Given the description of an element on the screen output the (x, y) to click on. 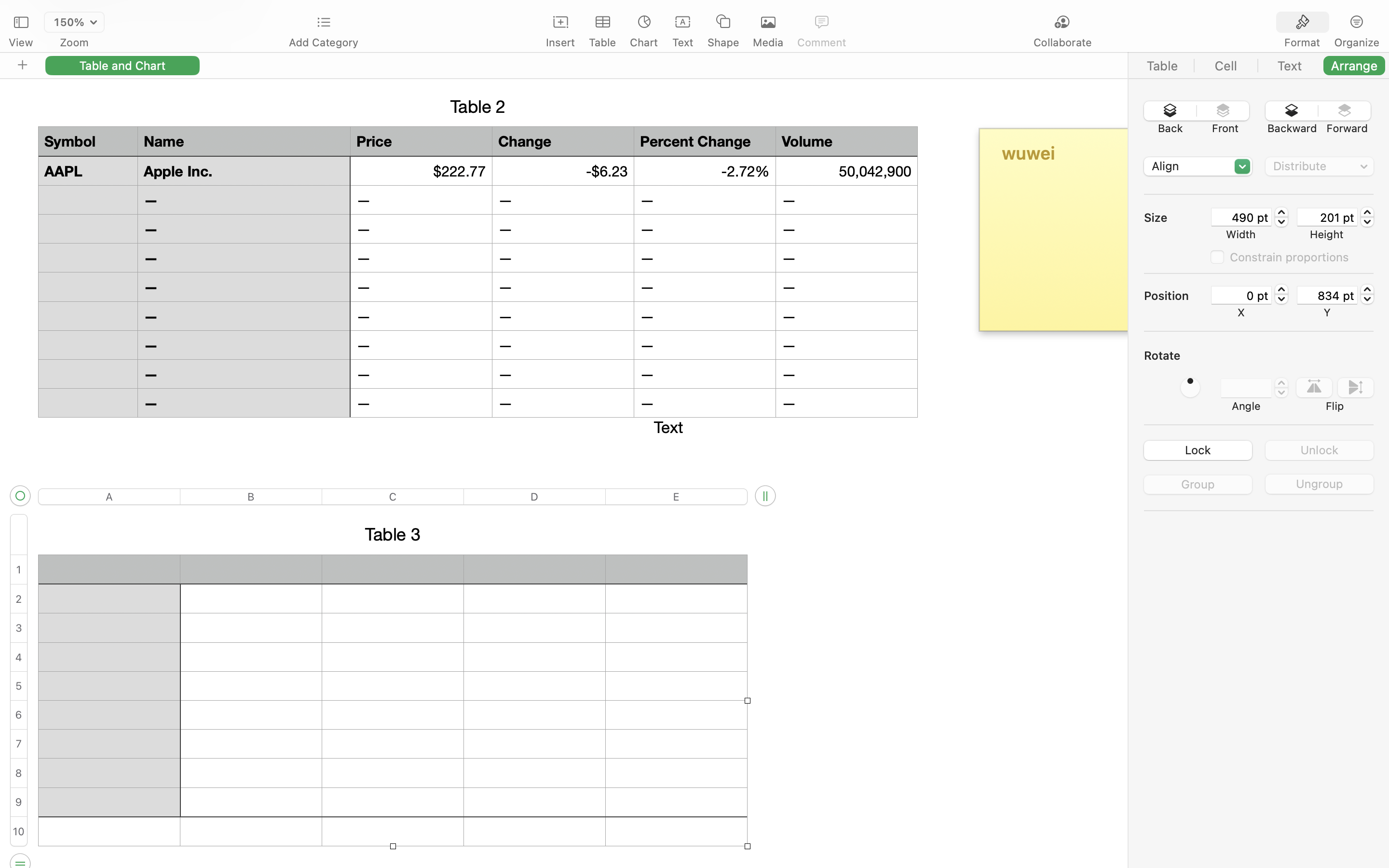
View Element type: AXStaticText (20, 42)
Position Element type: AXStaticText (1176, 295)
<AXUIElement 0x17ff39da0> {pid=1420} Element type: AXRadioGroup (1258, 65)
Height Element type: AXStaticText (1326, 234)
X Element type: AXStaticText (1241, 312)
